Given the description of an element on the screen output the (x, y) to click on. 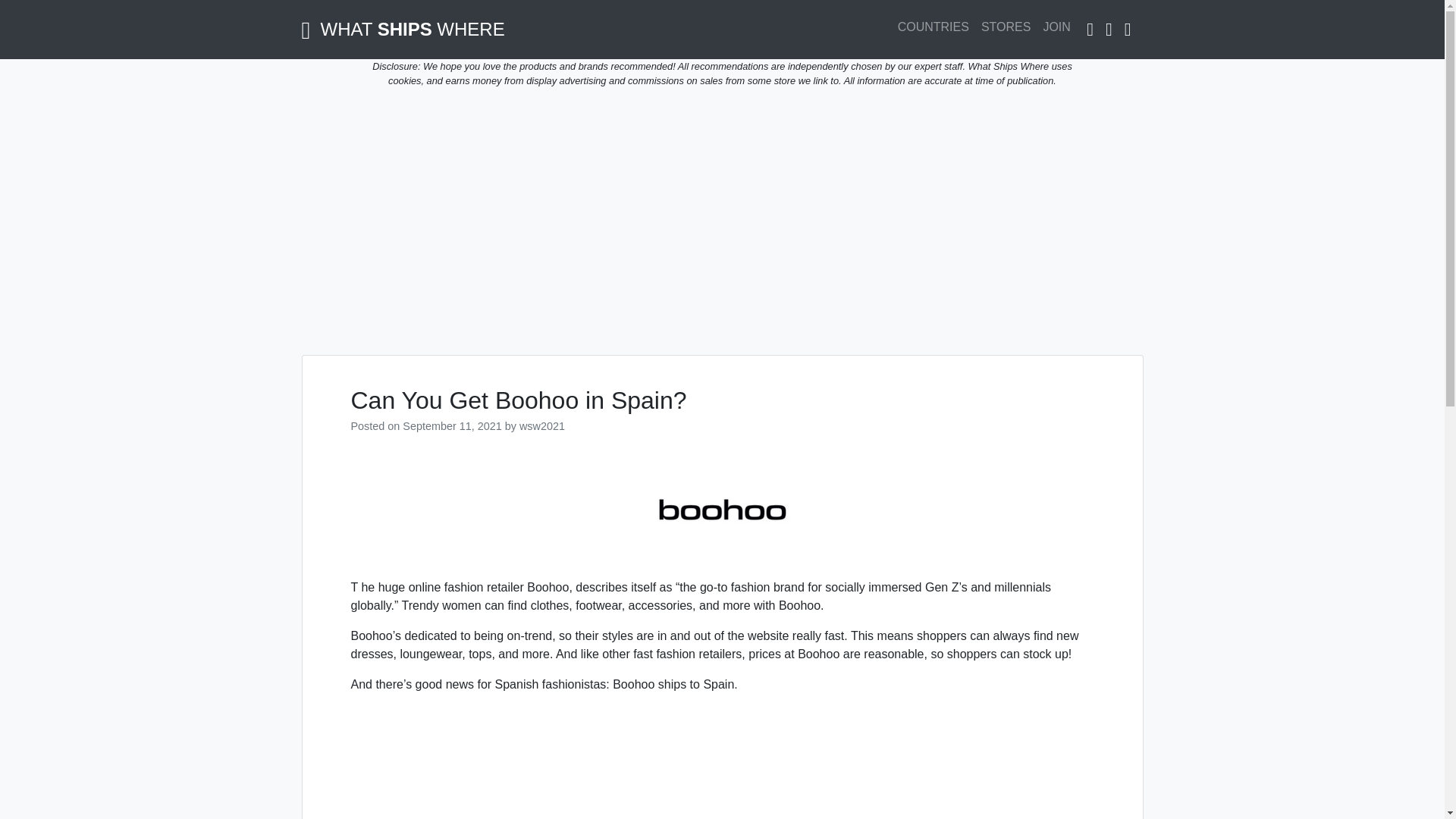
wsw2021 (541, 426)
JOIN (1055, 27)
 WHAT SHIPS WHERE (403, 29)
September 11, 2021 (451, 426)
COUNTRIES (933, 27)
STORES (1005, 27)
